Given the description of an element on the screen output the (x, y) to click on. 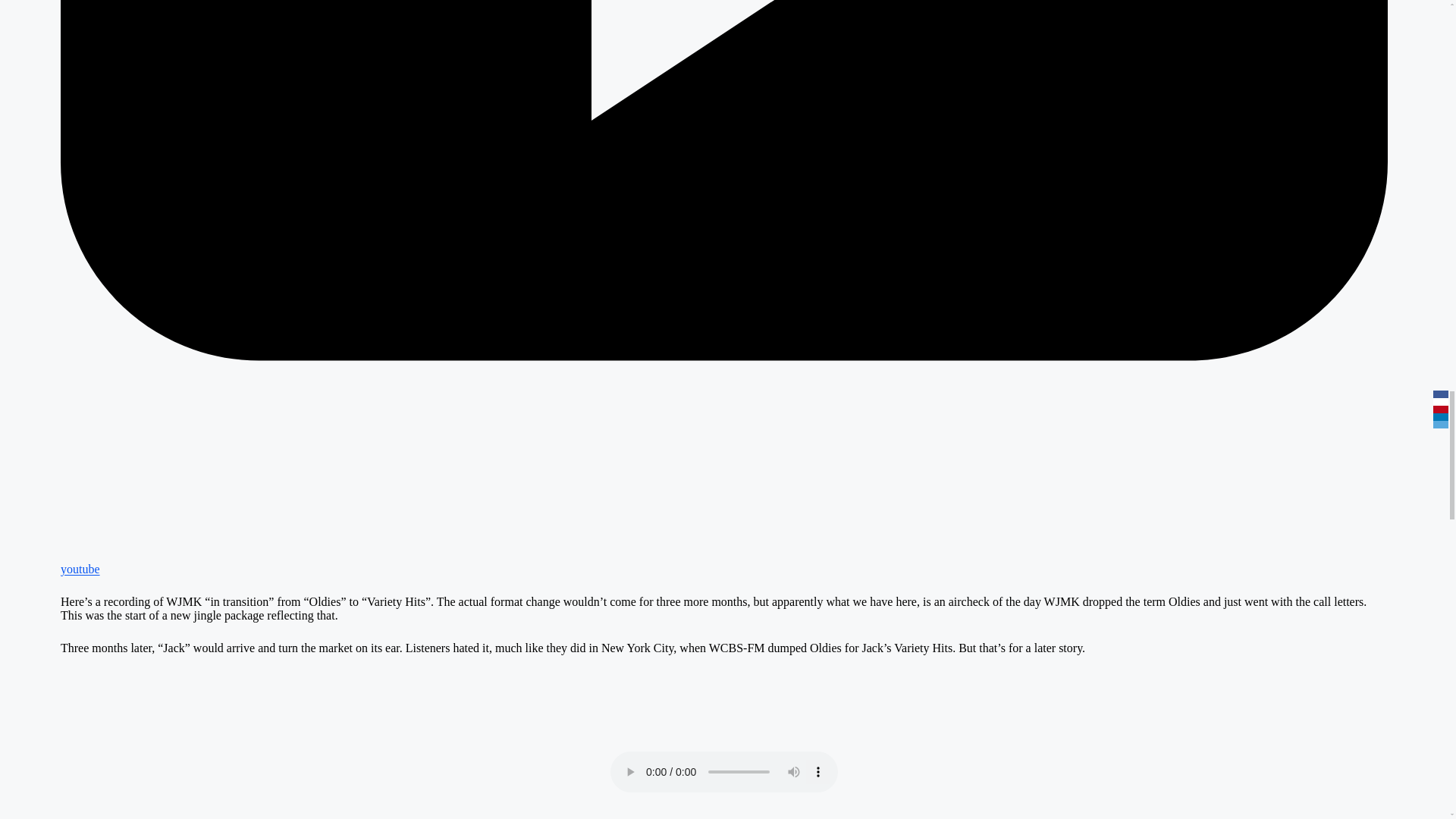
wjmk (724, 705)
youtube (724, 561)
